Given the description of an element on the screen output the (x, y) to click on. 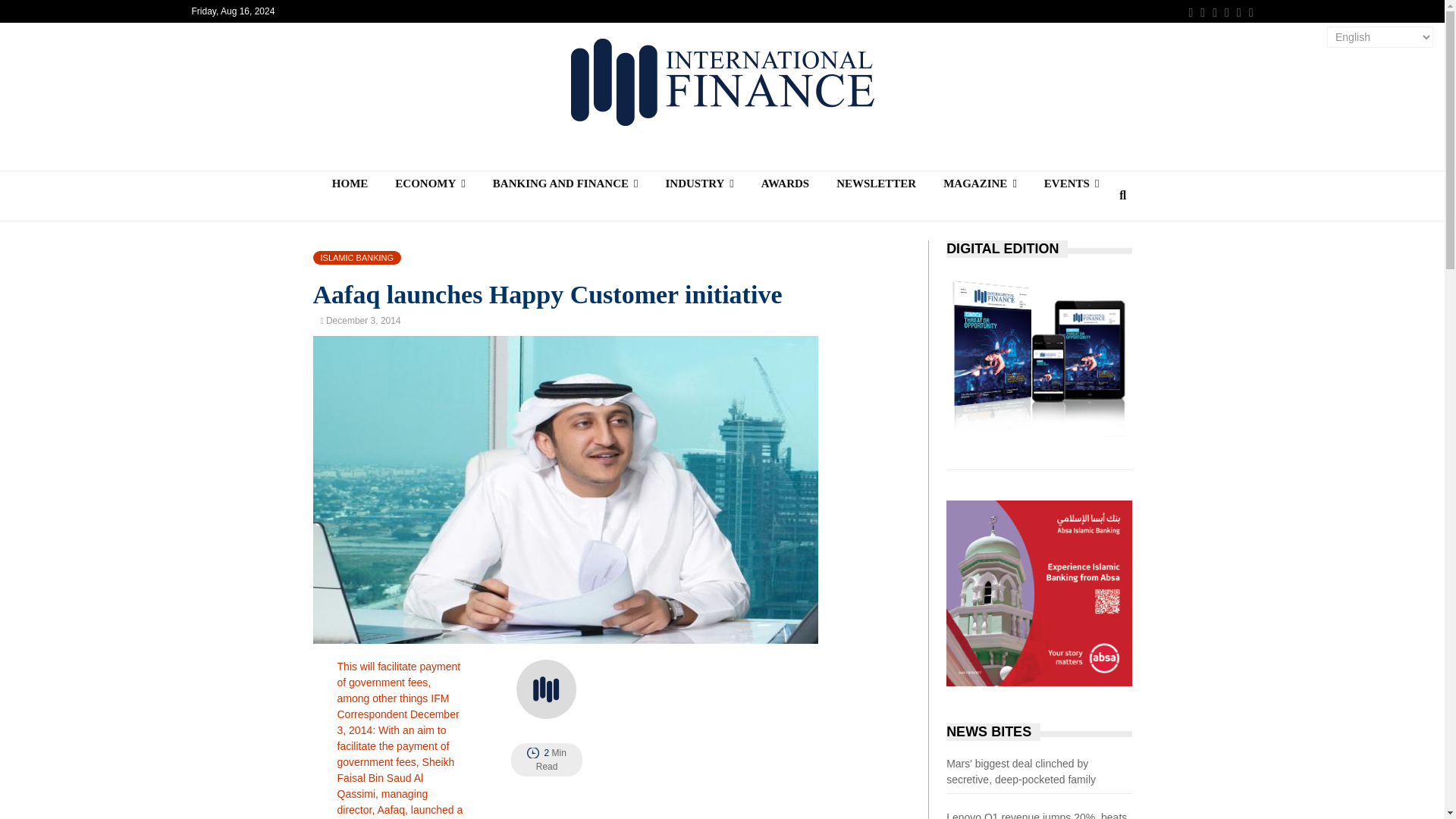
NEWSLETTER (876, 183)
MAGAZINE (980, 183)
ECONOMY (430, 183)
AWARDS (785, 183)
HOME (349, 183)
INDUSTRY (698, 183)
BANKING AND FINANCE (565, 183)
